Given the description of an element on the screen output the (x, y) to click on. 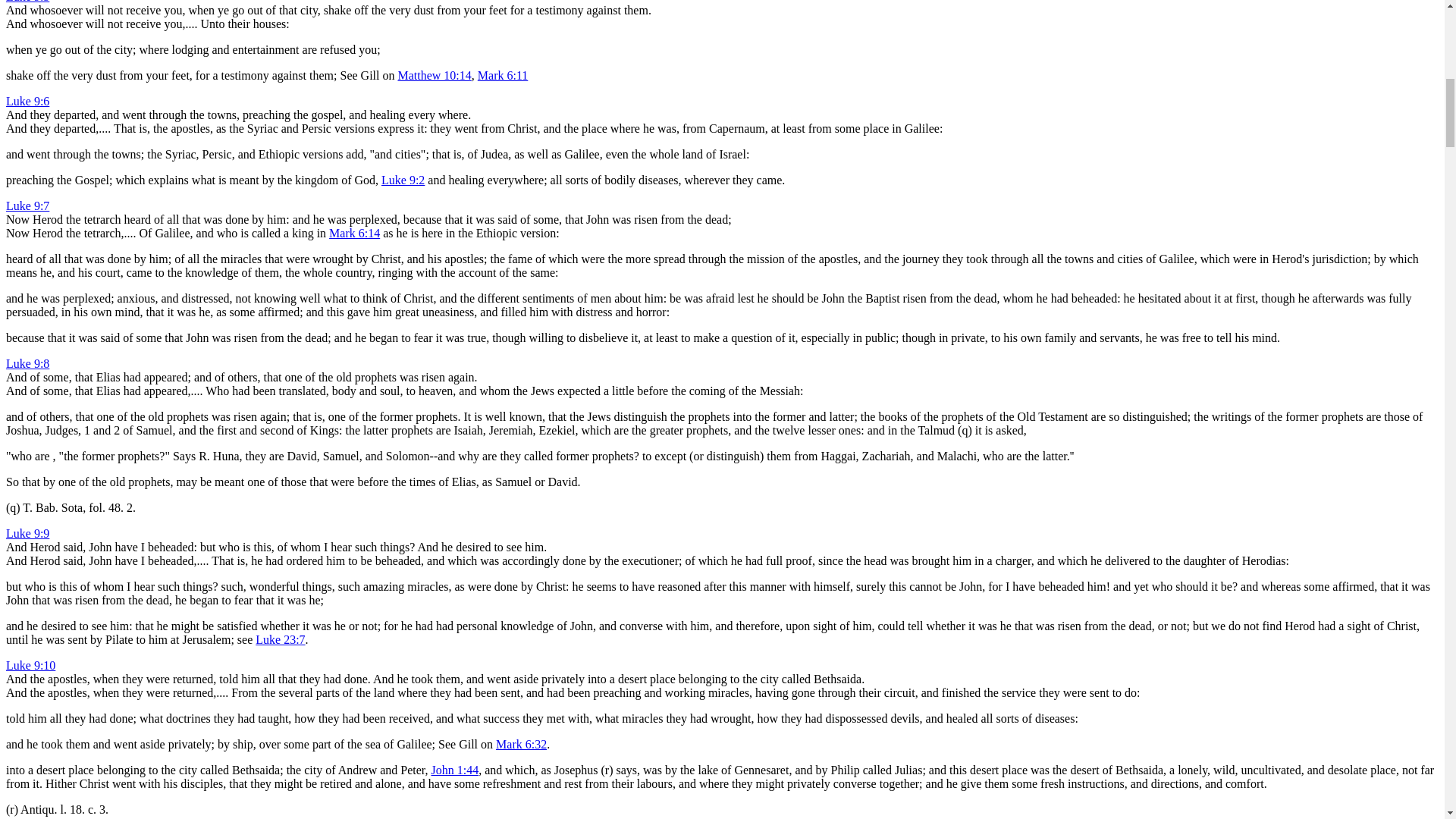
Luke 9:8 (27, 363)
Luke 23:7 (280, 639)
John 1:44 (454, 769)
Matthew 10:14 (433, 74)
Luke 9:2 (403, 179)
Luke 9:5 (27, 1)
Luke 9:7 (27, 205)
Mark 6:11 (502, 74)
Luke 9:9 (27, 533)
Mark 6:14 (354, 232)
